Given the description of an element on the screen output the (x, y) to click on. 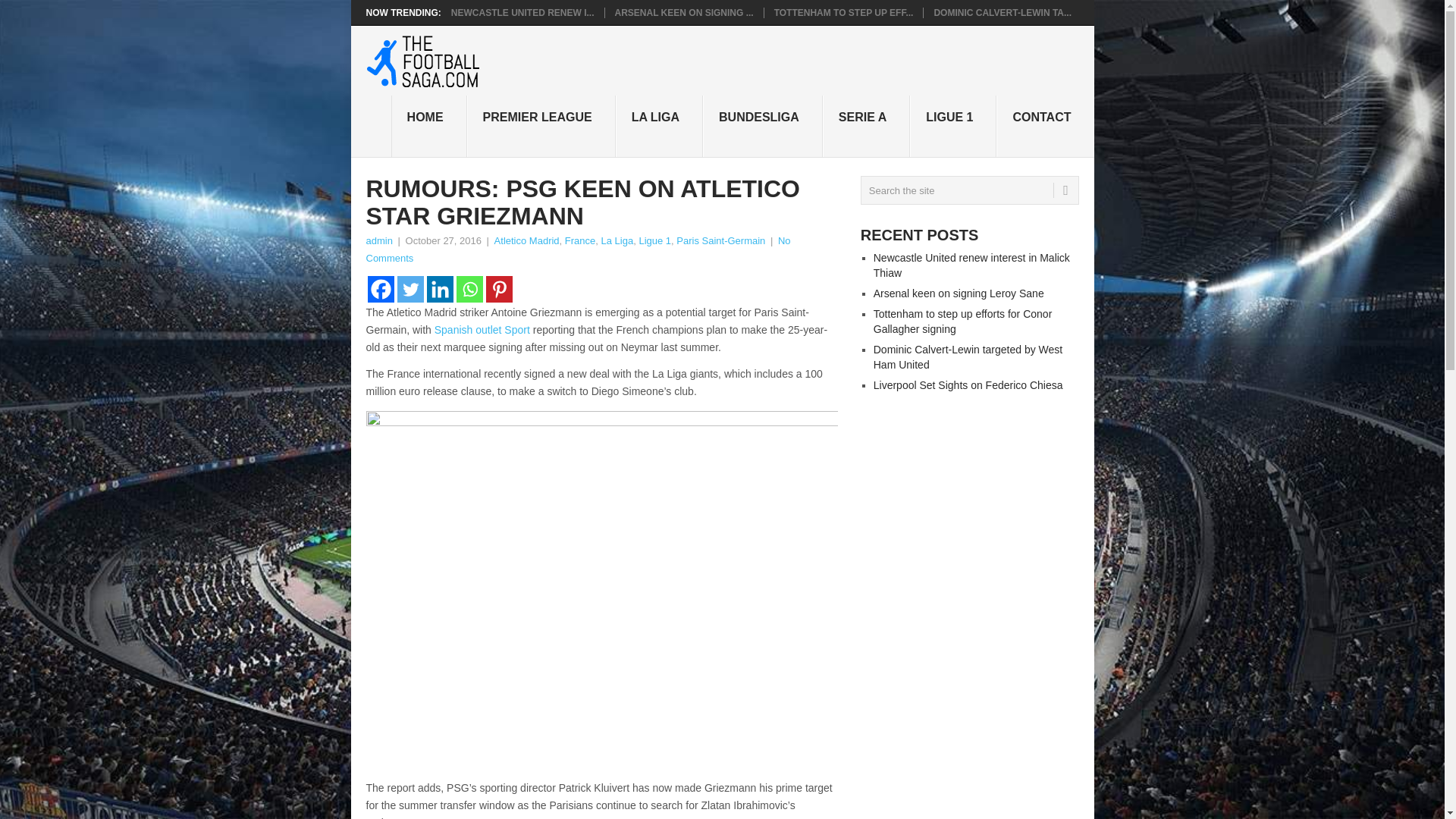
Liverpool Set Sights on Federico Chiesa (967, 385)
Linkedin (439, 289)
Atletico Madrid (527, 240)
TOTTENHAM TO STEP UP EFF... (844, 12)
HOME (429, 126)
Paris Saint-Germain (721, 240)
LIGUE 1 (952, 126)
DOMINIC CALVERT-LEWIN TA... (1002, 12)
La Liga (617, 240)
Newcastle United renew interest in Malick Thiaw (522, 12)
Arsenal keen on signing Leroy Sane (958, 293)
Arsenal keen on signing Leroy Sane (683, 12)
France (579, 240)
Whatsapp (470, 289)
Tottenham to step up efforts for Conor Gallagher signing (962, 320)
